Given the description of an element on the screen output the (x, y) to click on. 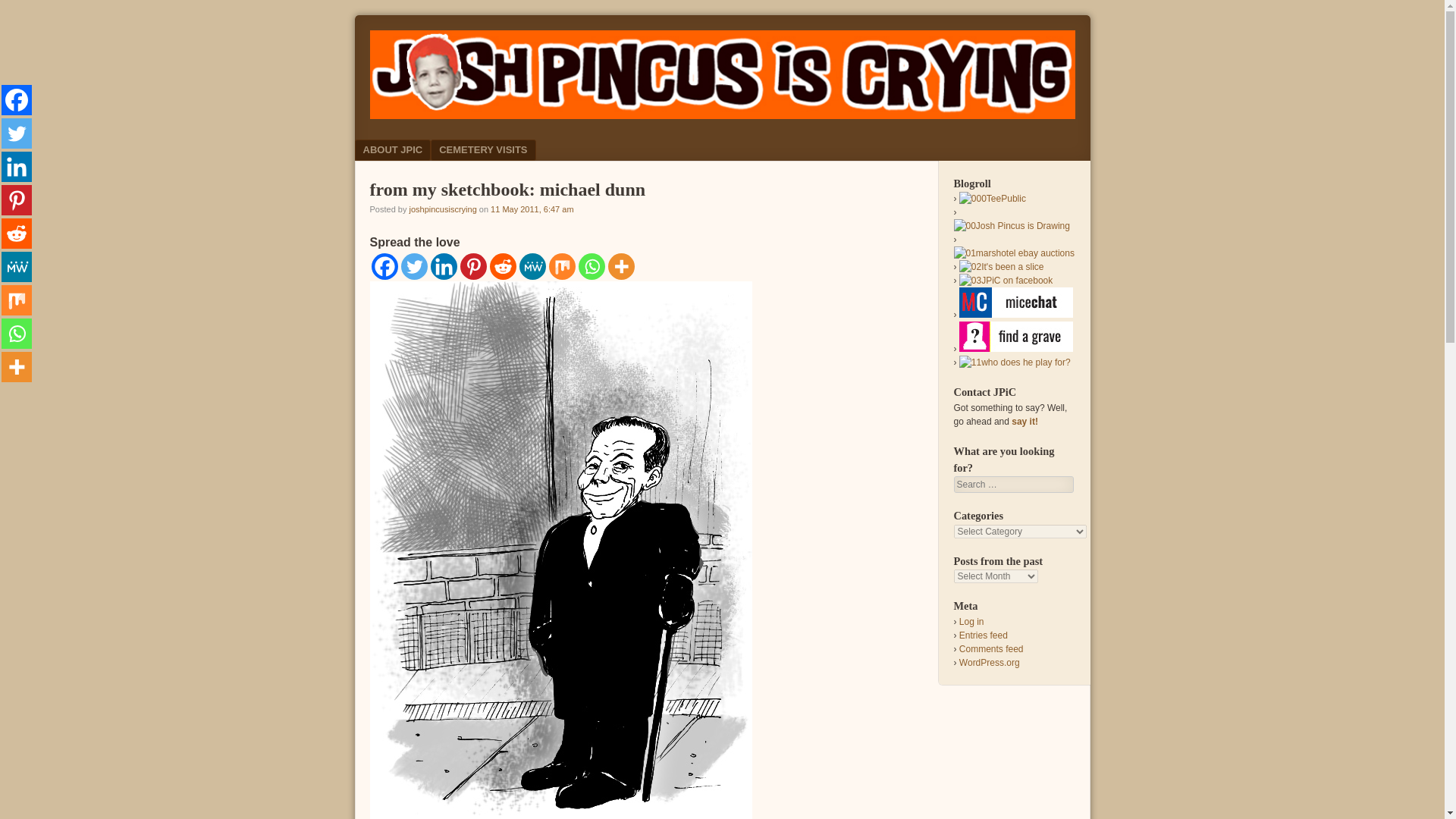
View all posts by joshpincusiscrying (442, 208)
CEMETERY VISITS (482, 149)
Whatsapp (591, 266)
MeWe (531, 266)
josh pincus is crying (722, 114)
SKIP TO CONTENT (408, 149)
ABOUT JPIC (392, 149)
Reddit (502, 266)
Skip to content (408, 149)
Mix (561, 266)
